Given the description of an element on the screen output the (x, y) to click on. 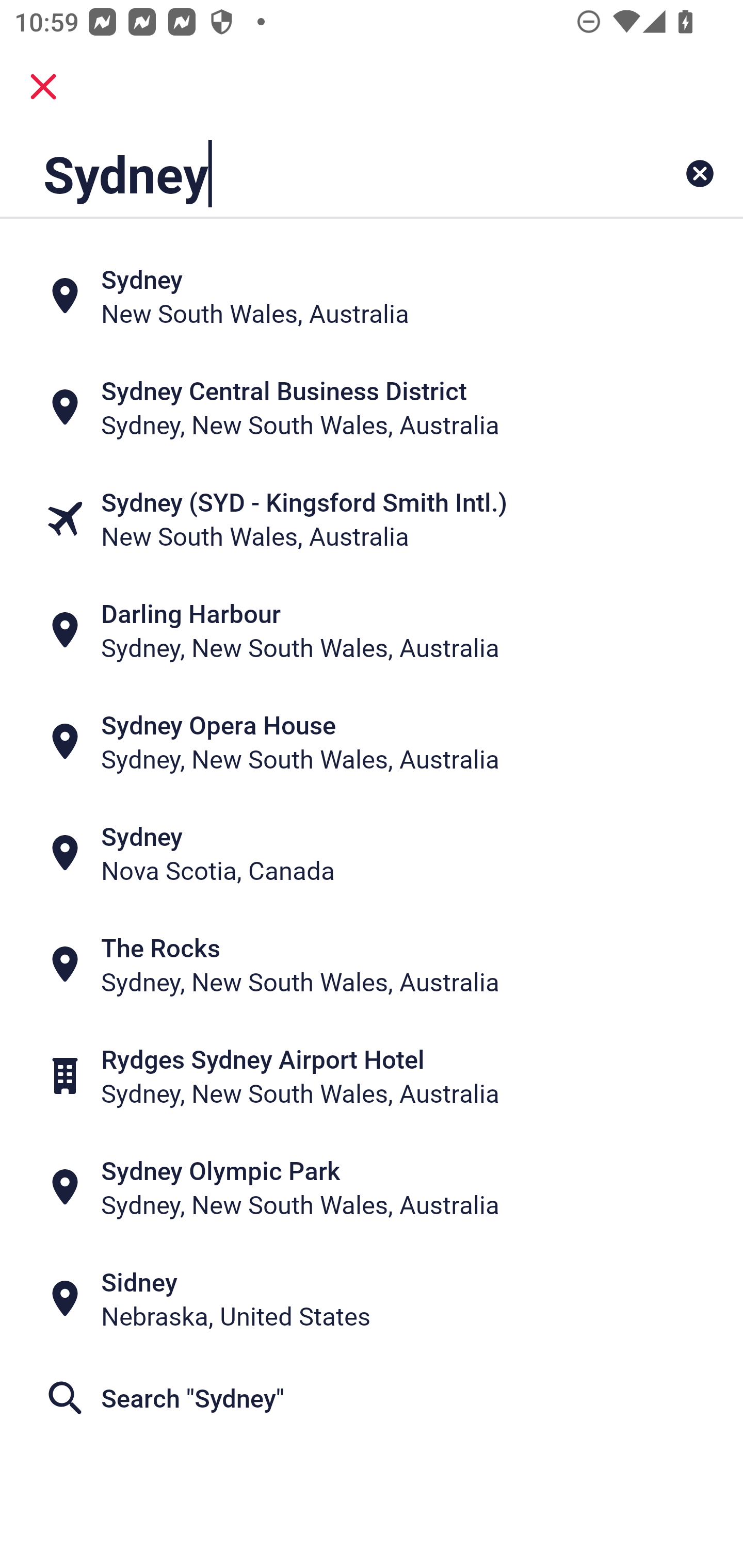
close. (43, 86)
Clear (699, 173)
Sydney (306, 173)
Sydney New South Wales, Australia (371, 295)
Darling Harbour Sydney, New South Wales, Australia (371, 629)
Sydney Nova Scotia, Canada (371, 853)
The Rocks Sydney, New South Wales, Australia (371, 964)
Sidney Nebraska, United States (371, 1298)
Search "Sydney" (371, 1397)
